Given the description of an element on the screen output the (x, y) to click on. 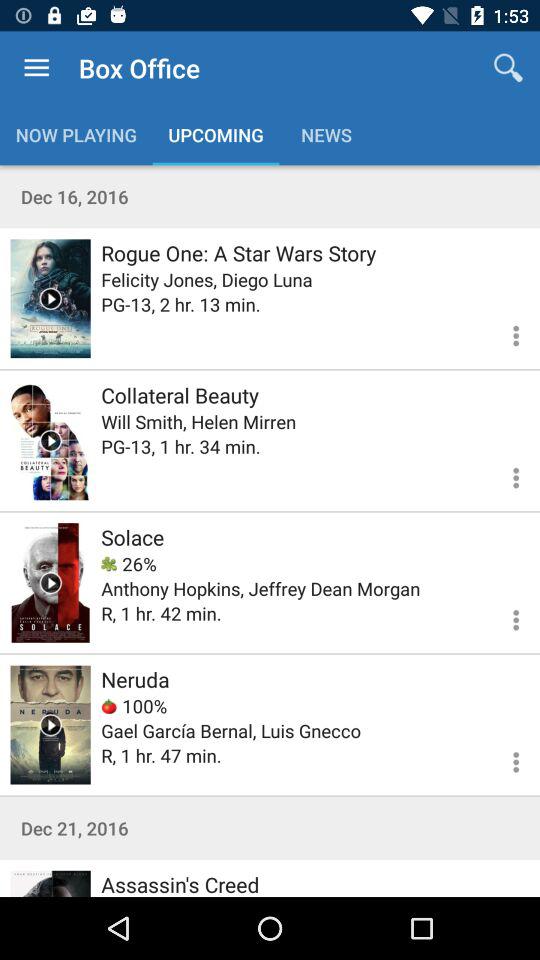
launch the 100% item (134, 705)
